Given the description of an element on the screen output the (x, y) to click on. 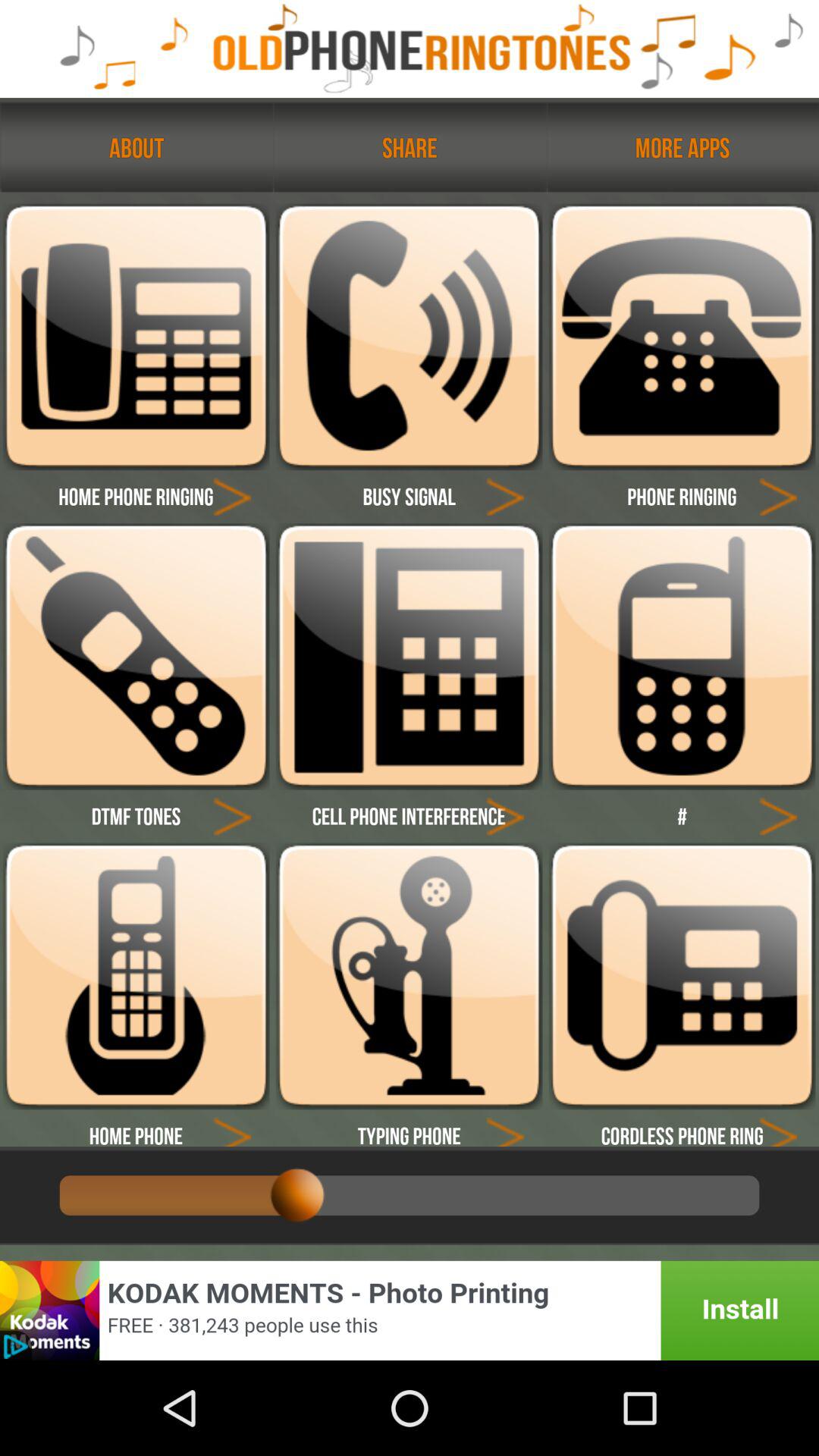
go to play (505, 1127)
